Given the description of an element on the screen output the (x, y) to click on. 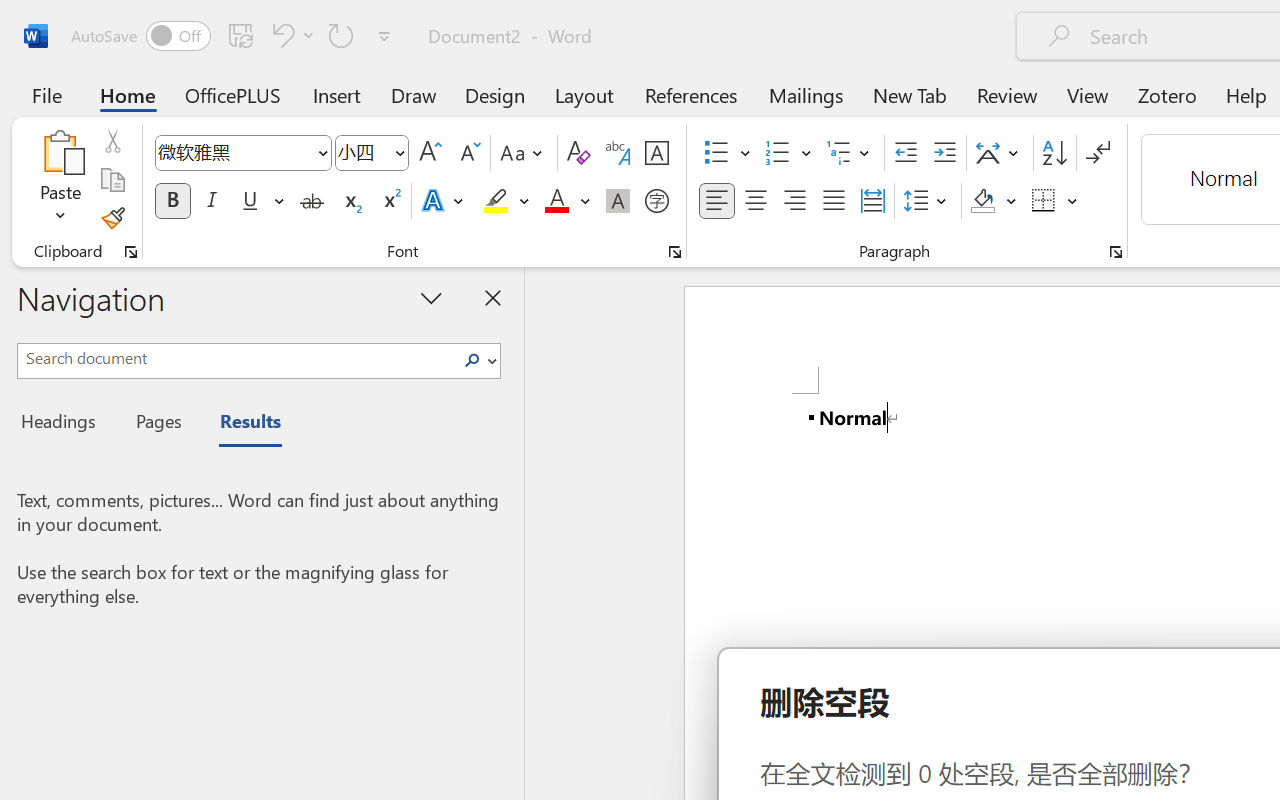
Format Painter (112, 218)
Borders (1044, 201)
Repeat Doc Close (341, 35)
Align Left (716, 201)
Line and Paragraph Spacing (927, 201)
Bold (172, 201)
Bullets (716, 153)
Asian Layout (1000, 153)
Numbering (778, 153)
Sort... (1054, 153)
Save (241, 35)
Review (1007, 94)
Home (127, 94)
Justify (834, 201)
Paste (60, 151)
